Given the description of an element on the screen output the (x, y) to click on. 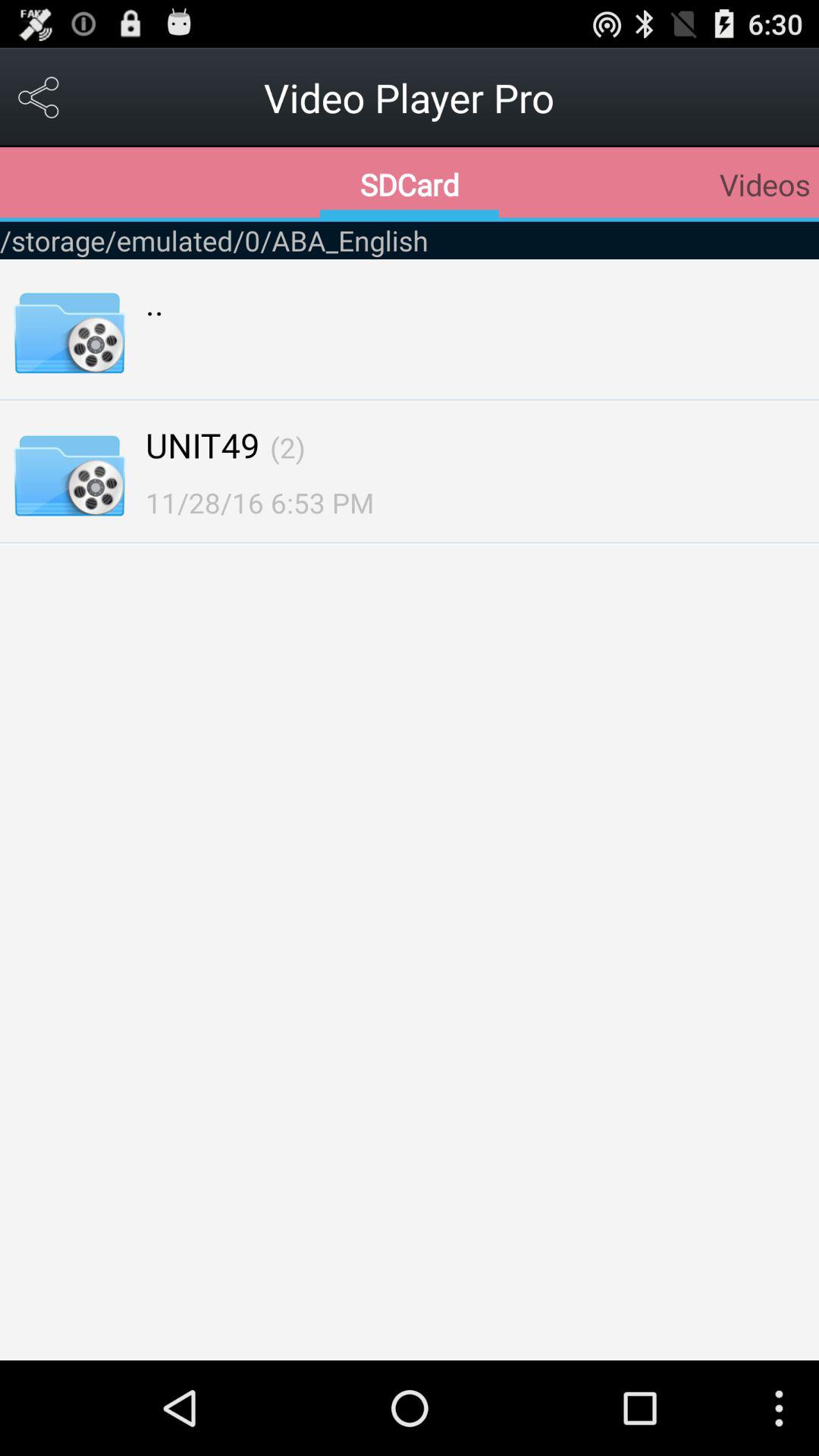
choose unit49 icon (202, 445)
